Given the description of an element on the screen output the (x, y) to click on. 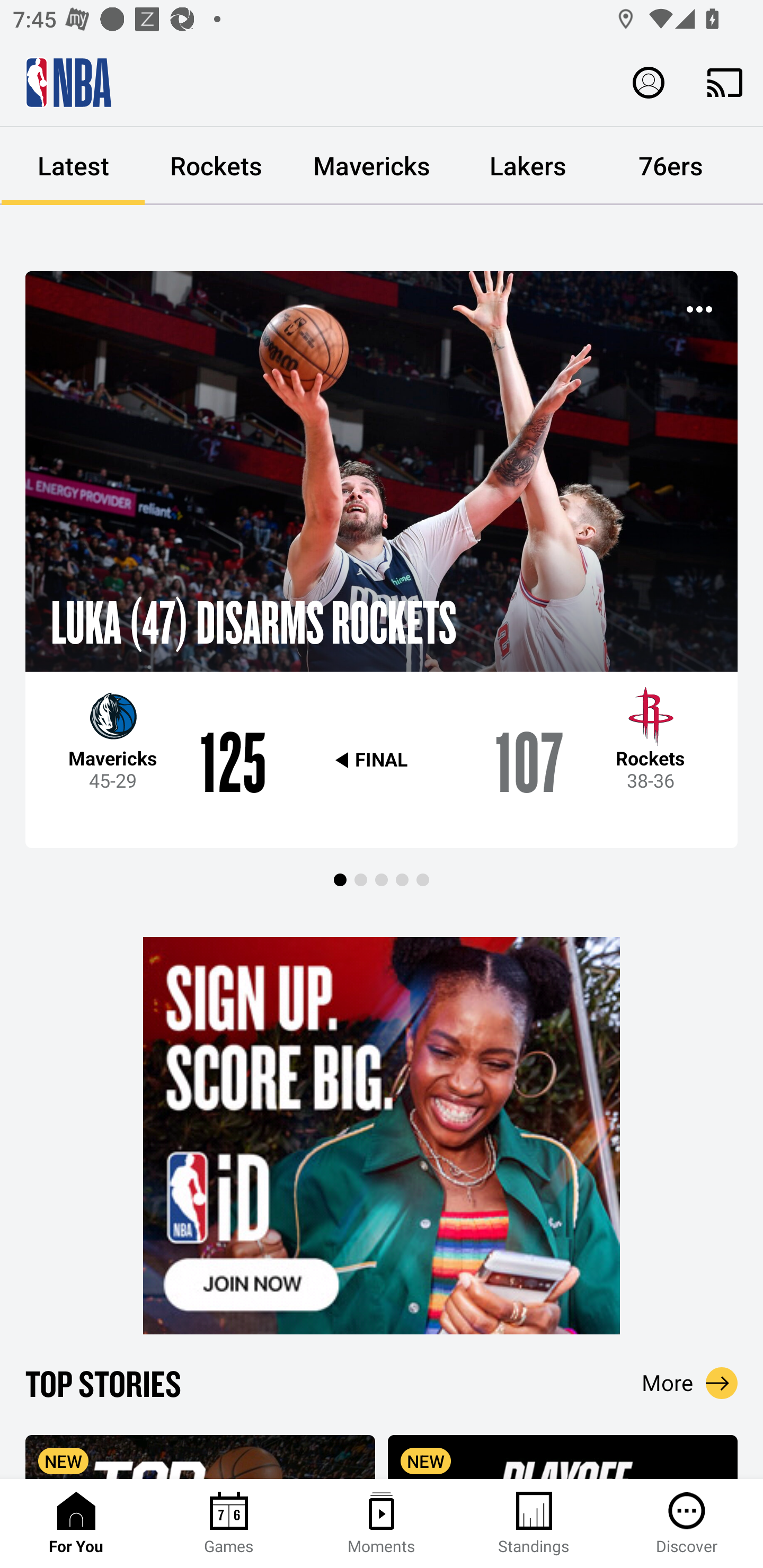
Cast. Disconnected (724, 82)
Profile (648, 81)
Rockets (215, 166)
Mavericks (371, 166)
Lakers (527, 166)
76ers (670, 166)
More (689, 1382)
Games (228, 1523)
Moments (381, 1523)
Standings (533, 1523)
Discover (686, 1523)
